Given the description of an element on the screen output the (x, y) to click on. 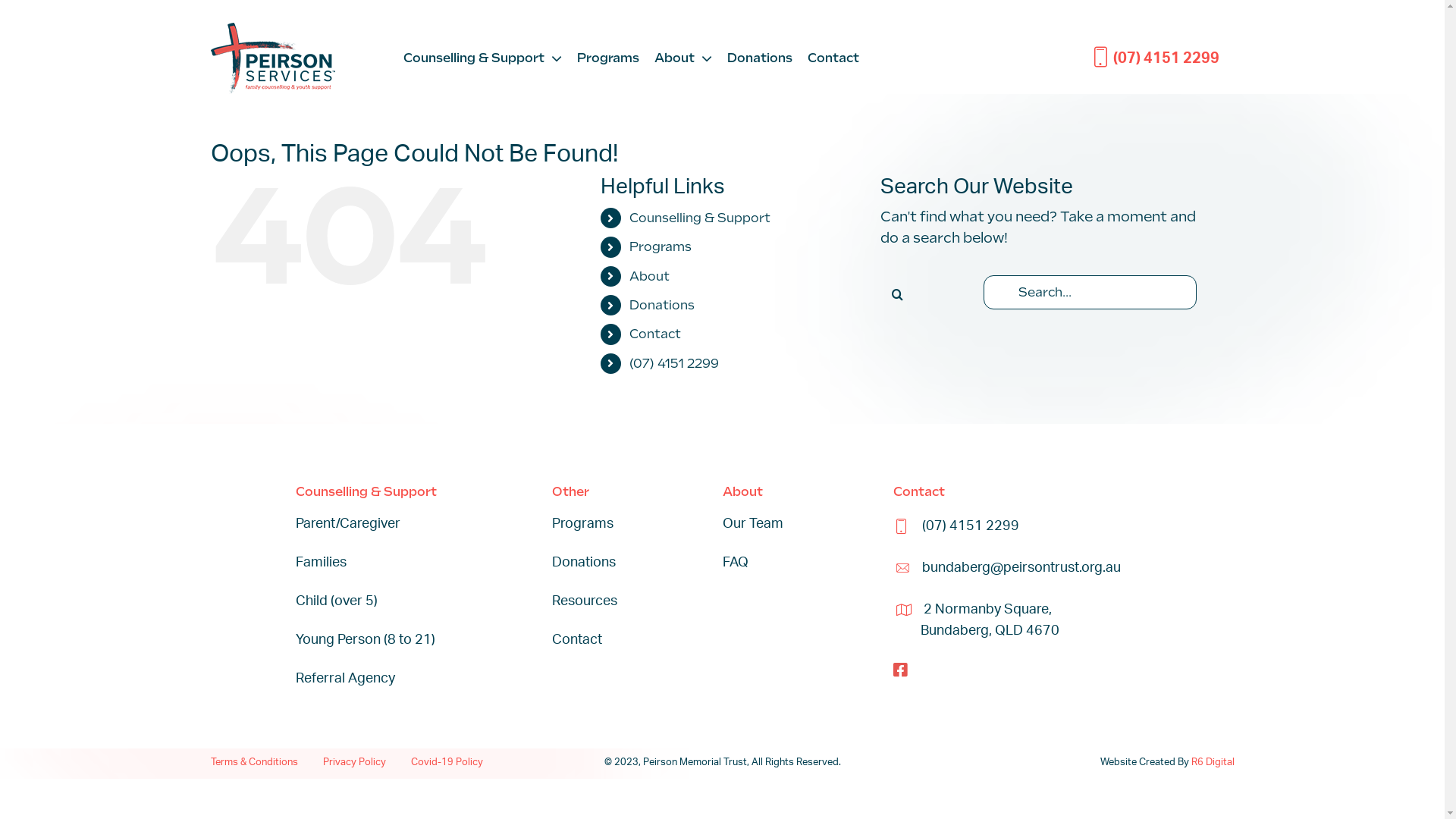
About Element type: text (682, 58)
Terms & Conditions Element type: text (254, 762)
Programs Element type: text (660, 246)
Families Element type: text (320, 562)
(07) 4151 2299 Element type: text (1155, 58)
Counselling & Support Element type: text (699, 217)
(07) 4151 2299 Element type: text (969, 526)
Programs Element type: text (582, 523)
R6 Digital Element type: text (1211, 762)
Young Person (8 to 21) Element type: text (365, 639)
FAQ Element type: text (734, 562)
Privacy Policy Element type: text (354, 762)
Contact Element type: text (832, 58)
Donations Element type: text (583, 562)
Covid-19 Policy Element type: text (447, 762)
Resources Element type: text (584, 601)
(07) 4151 2299 Element type: text (673, 363)
Our Team Element type: text (751, 523)
Counselling & Support Element type: text (482, 58)
Parent/Caregiver Element type: text (347, 523)
bundaberg@peirsontrust.org.au Element type: text (1020, 567)
Donations Element type: text (758, 58)
Referral Agency Element type: text (345, 678)
Programs Element type: text (607, 58)
Contact Element type: text (654, 333)
About Element type: text (649, 276)
Contact Element type: text (577, 639)
Donations Element type: text (661, 305)
Child (over 5) Element type: text (336, 601)
